Given the description of an element on the screen output the (x, y) to click on. 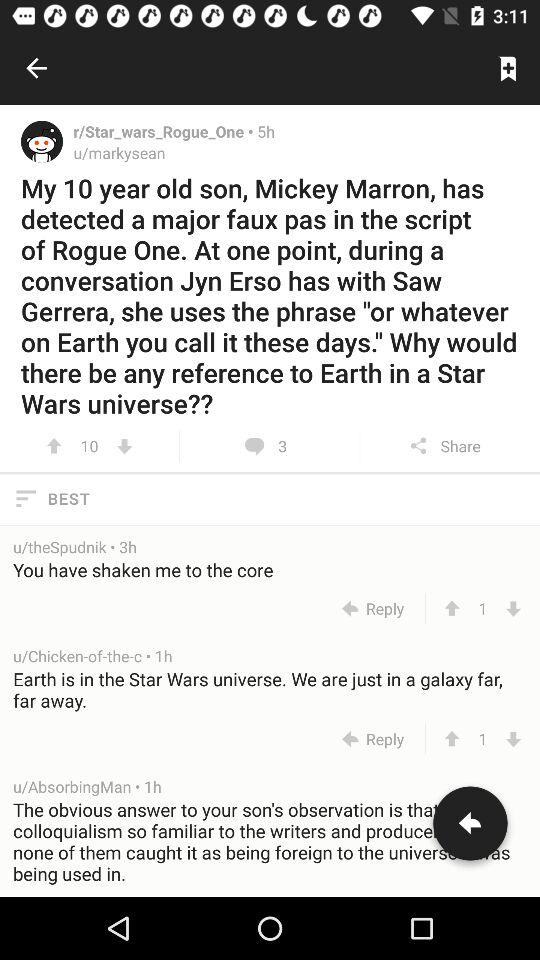
launch the item at the top right corner (508, 67)
